Given the description of an element on the screen output the (x, y) to click on. 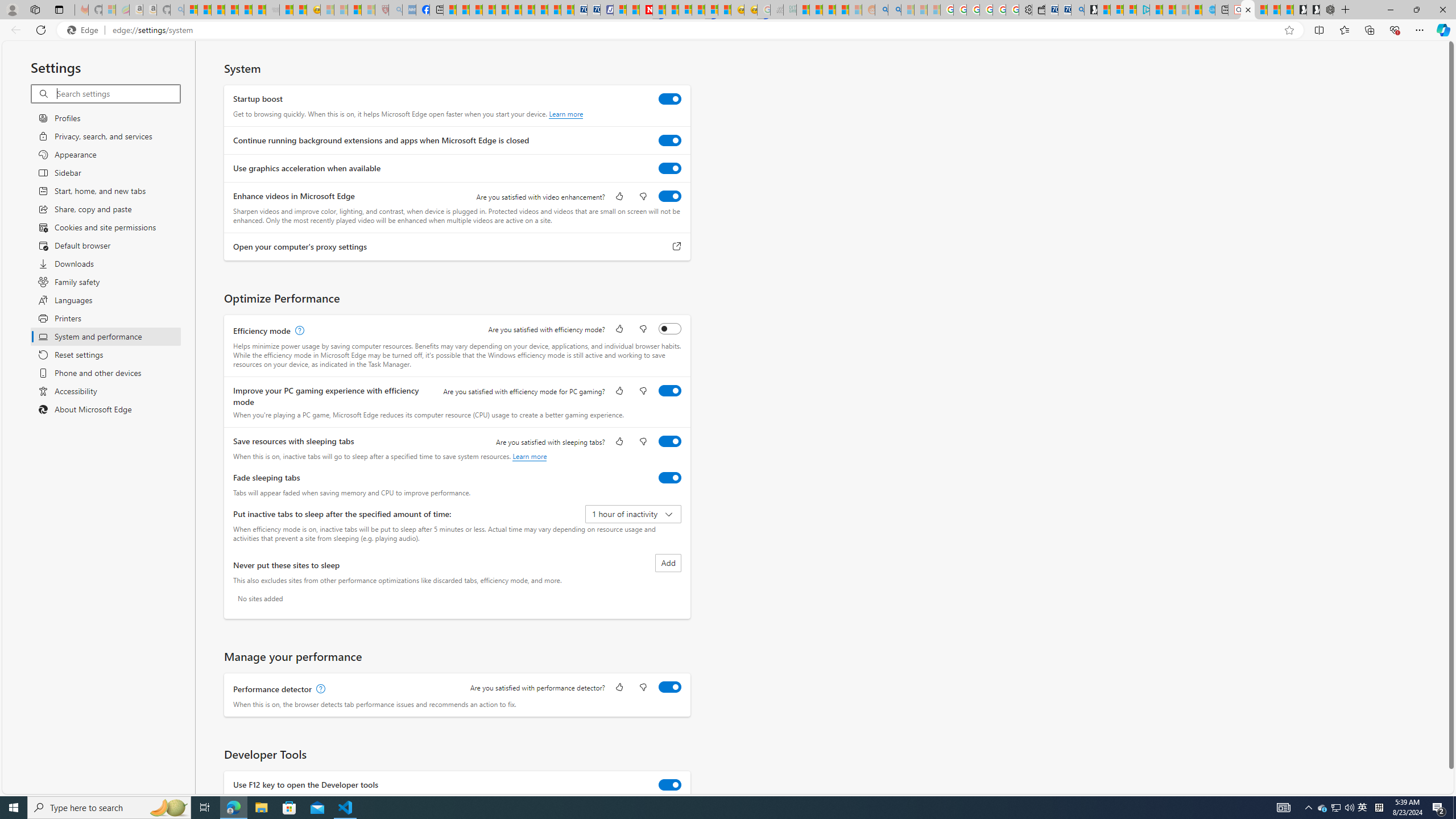
Learn more (529, 456)
Combat Siege - Sleeping (271, 9)
Bing Real Estate - Home sales and rental listings (1077, 9)
Like (619, 687)
12 Popular Science Lies that Must be Corrected - Sleeping (368, 9)
Save resources with sleeping tabs (669, 441)
